Given the description of an element on the screen output the (x, y) to click on. 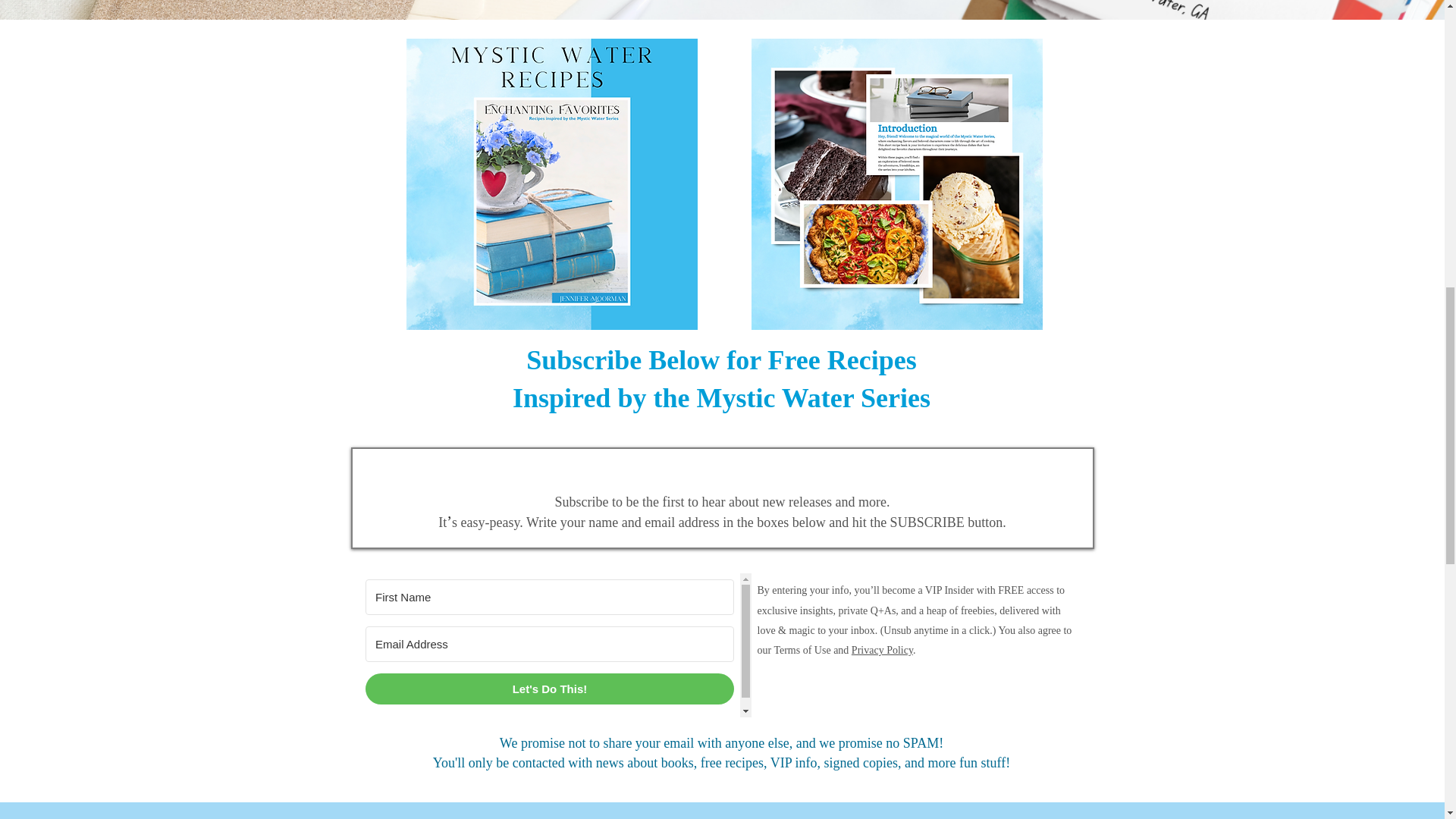
Embedded Content (555, 645)
Privacy Policy (881, 650)
